Given the description of an element on the screen output the (x, y) to click on. 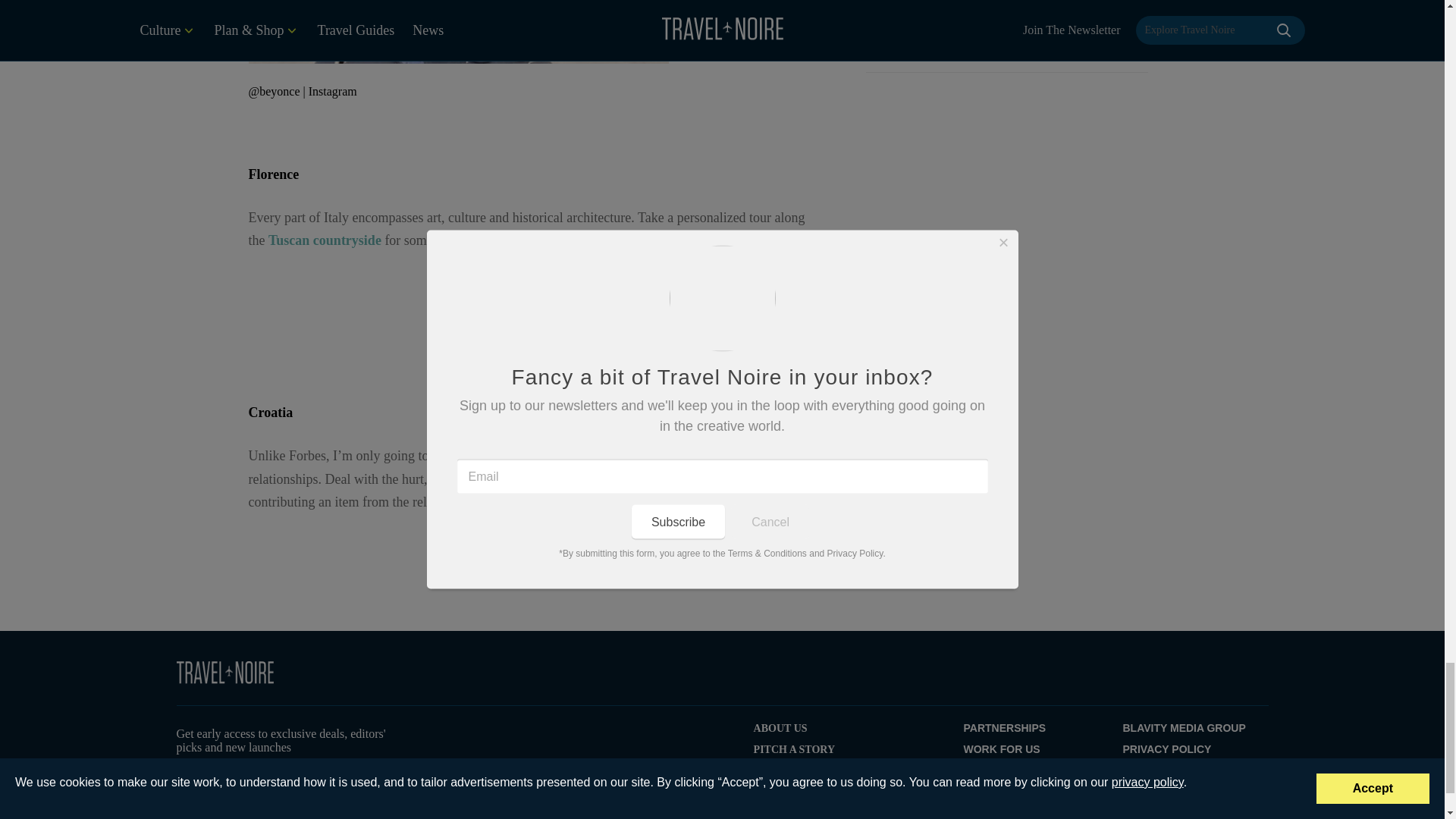
Travel Noire (224, 671)
